Given the description of an element on the screen output the (x, y) to click on. 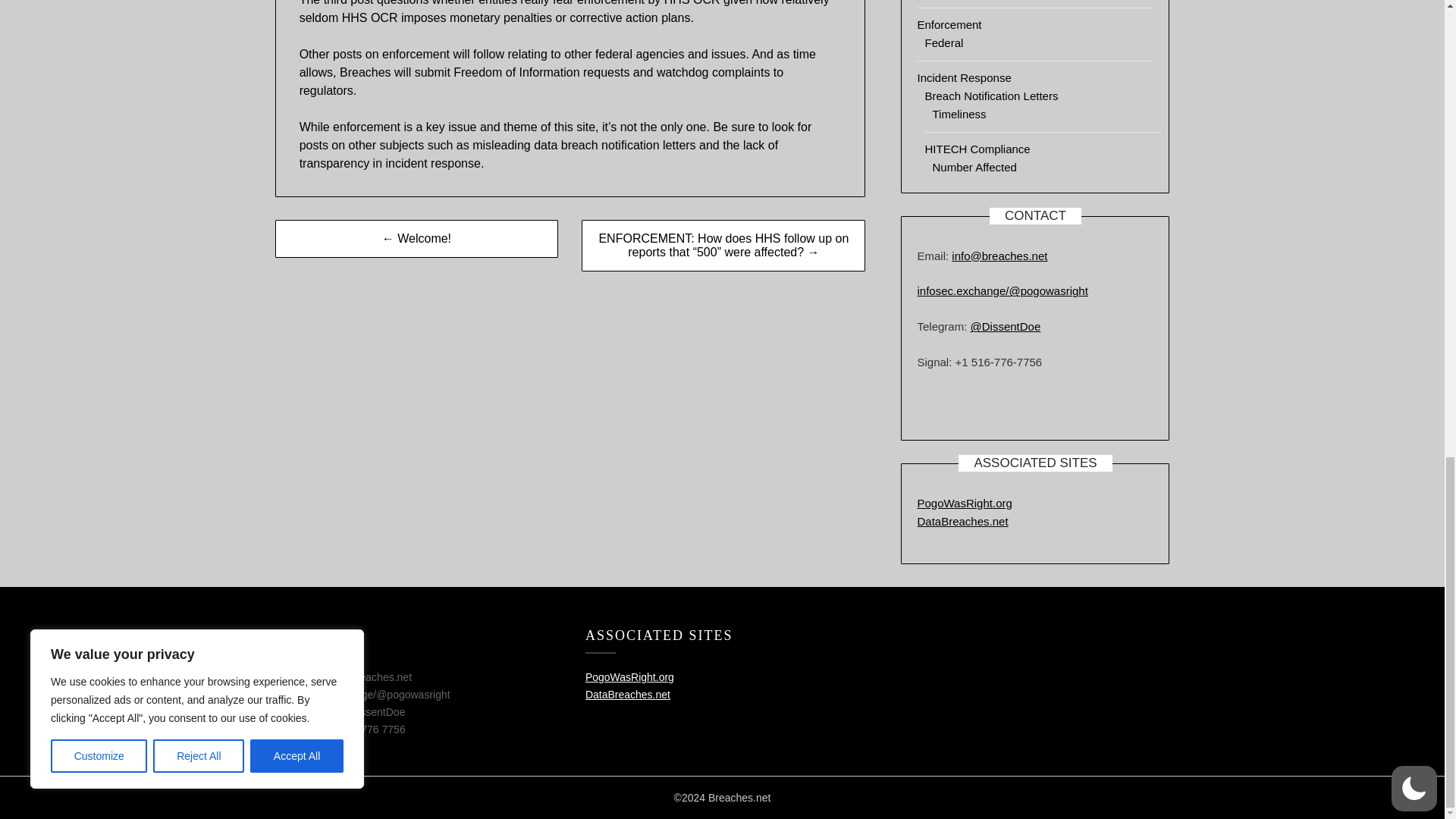
Timeliness (958, 113)
Incident Response (963, 77)
Federal (943, 42)
Breach Notification Letters (991, 95)
Number Affected (973, 166)
HITECH Compliance (976, 148)
Enforcement (949, 24)
